Given the description of an element on the screen output the (x, y) to click on. 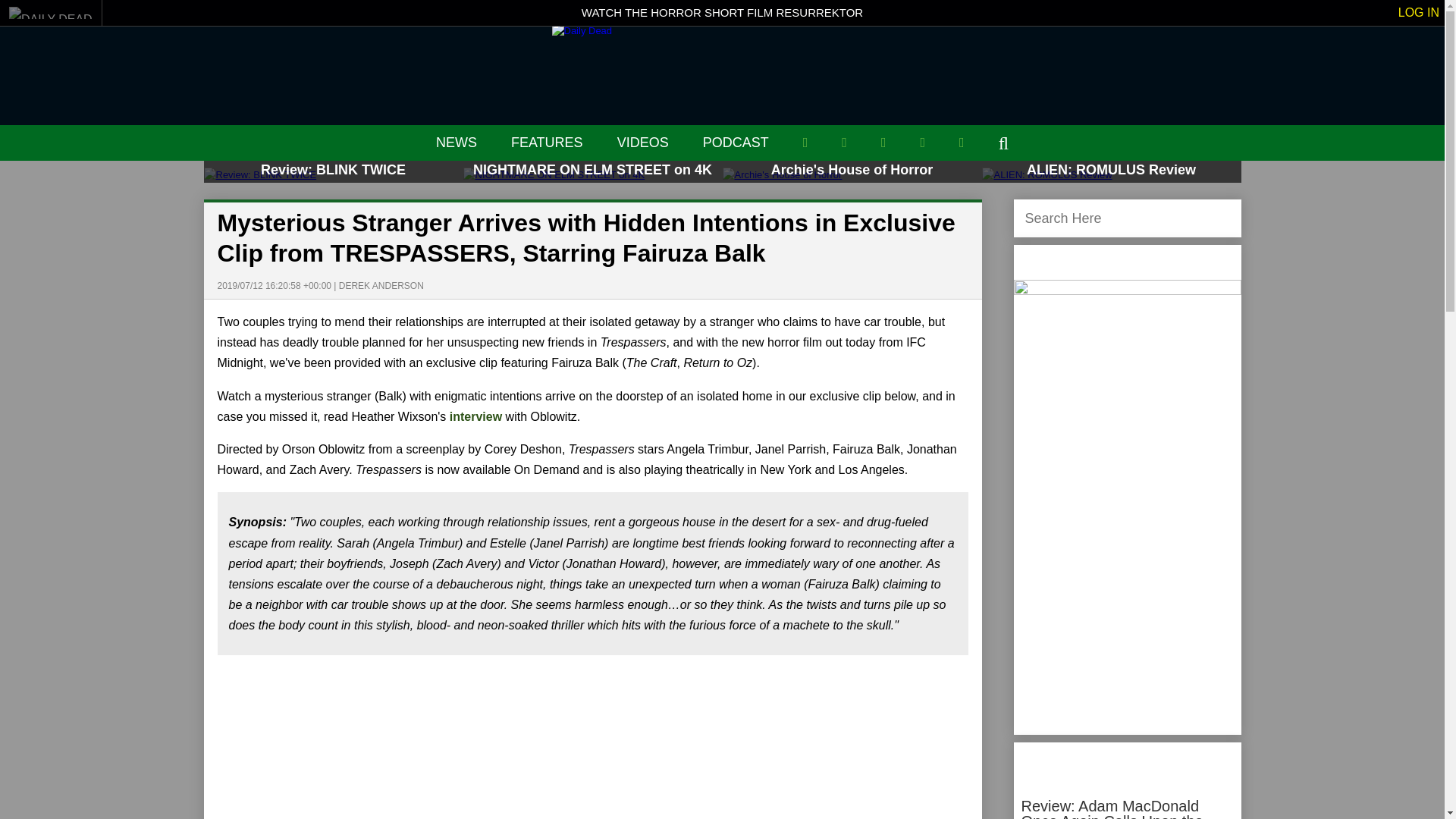
ALIEN: ROMULUS Review (1110, 174)
Archie's House of Horror (851, 174)
PODCAST (735, 142)
VIDEOS (642, 142)
NEWS (456, 142)
WATCH THE HORROR SHORT FILM RESURREKTOR (721, 11)
interview (475, 416)
FEATURES (547, 142)
DEREK ANDERSON (381, 285)
